Given the description of an element on the screen output the (x, y) to click on. 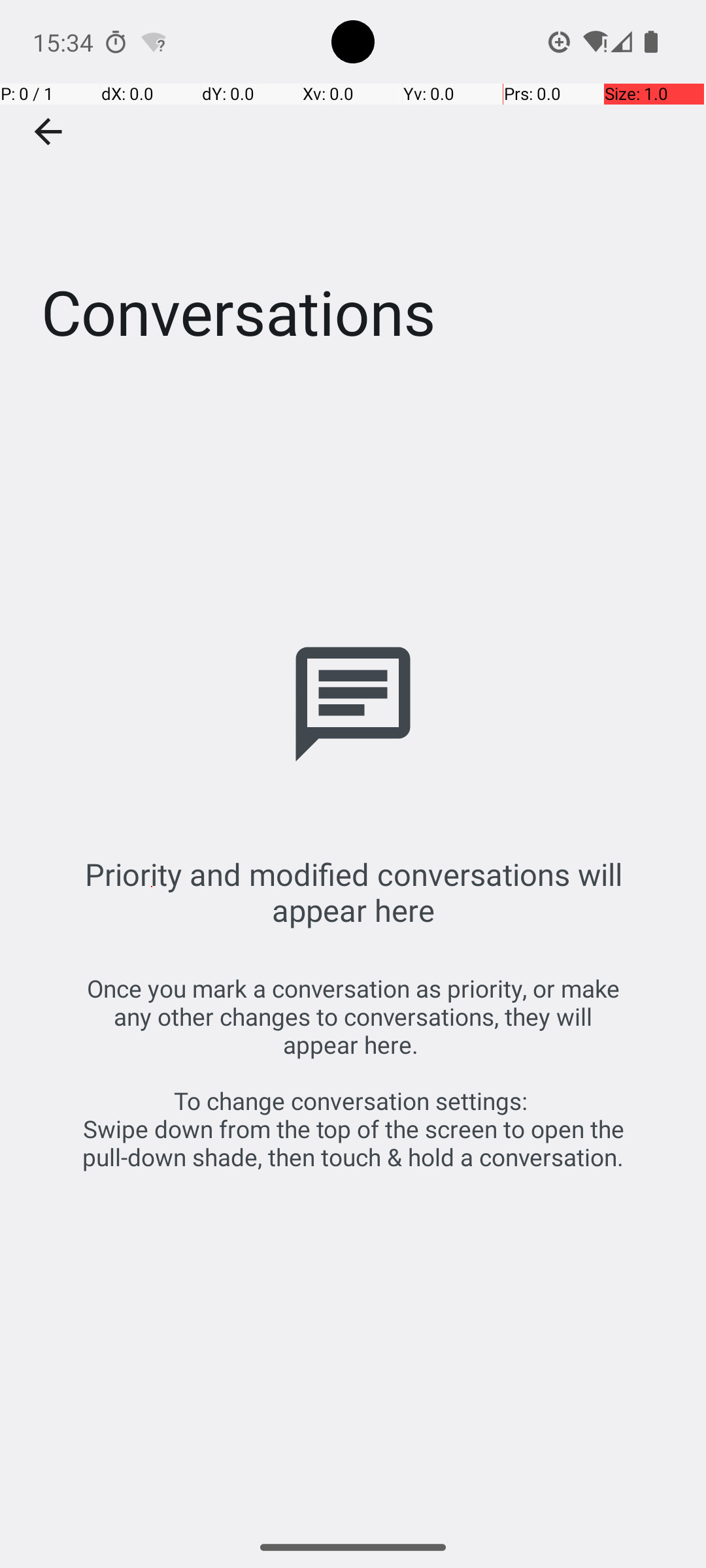
Priority and modified conversations will appear here Element type: android.widget.TextView (352, 891)
Once you mark a conversation as priority, or make any other changes to conversations, they will appear here. 

To change conversation settings: 
Swipe down from the top of the screen to open the pull-down shade, then touch & hold a conversation. Element type: android.widget.TextView (352, 1072)
